Given the description of an element on the screen output the (x, y) to click on. 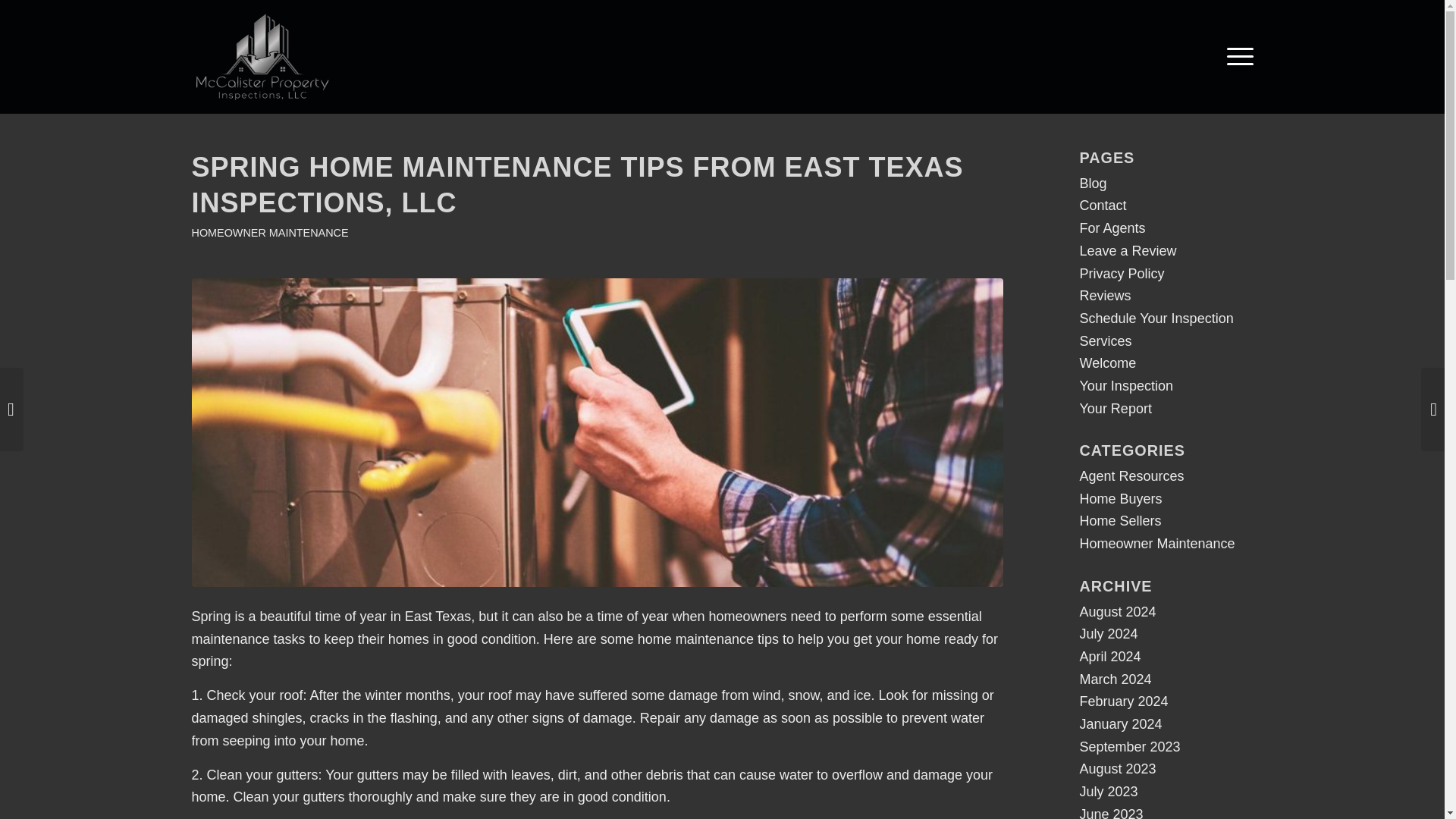
Reviews (1105, 295)
Services (1106, 340)
Home Buyers (1120, 498)
Contact (1103, 205)
Blog (1093, 183)
Your Inspection (1126, 385)
Homeowner Maintenance (1157, 543)
HOMEOWNER MAINTENANCE (268, 232)
Privacy Policy (1122, 273)
